Given the description of an element on the screen output the (x, y) to click on. 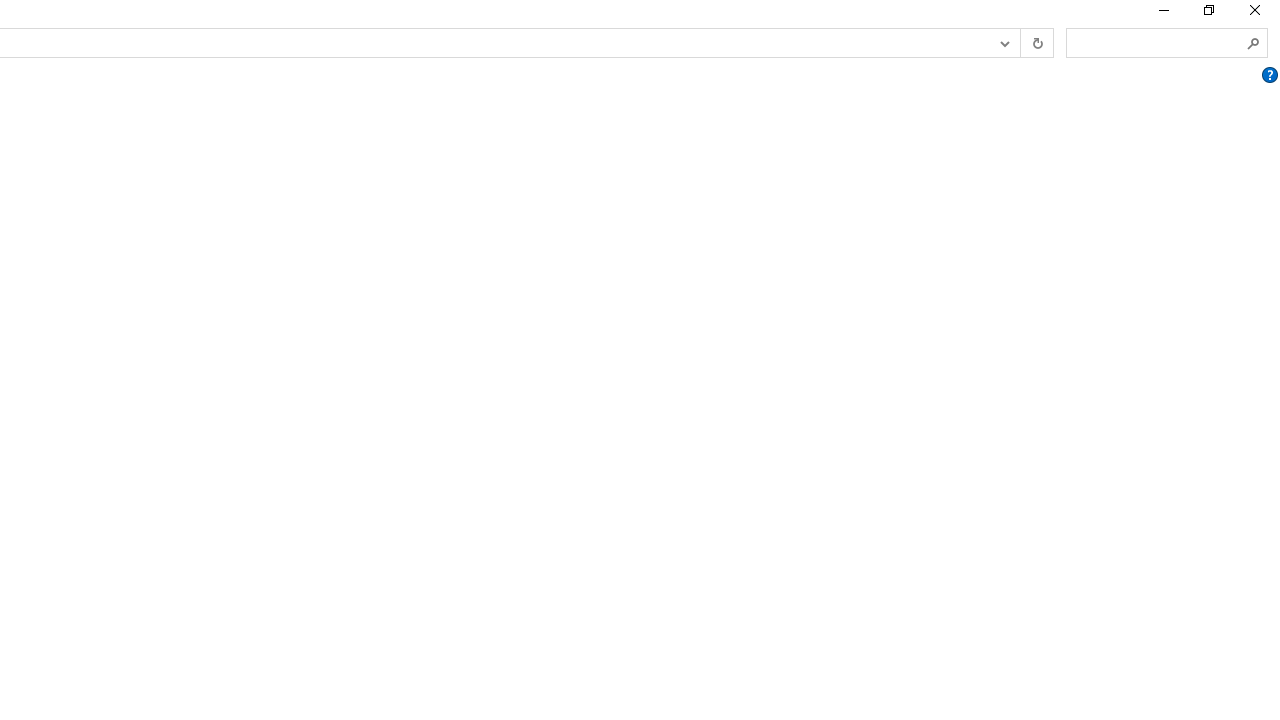
Address band toolbar (1019, 43)
Search (1253, 43)
Refresh "Storage Spaces" (F5) (1036, 43)
AutomationID: Help (1269, 75)
Minimize (1162, 14)
Previous Locations (1003, 43)
Search Box (1156, 42)
Restore (1208, 14)
